Given the description of an element on the screen output the (x, y) to click on. 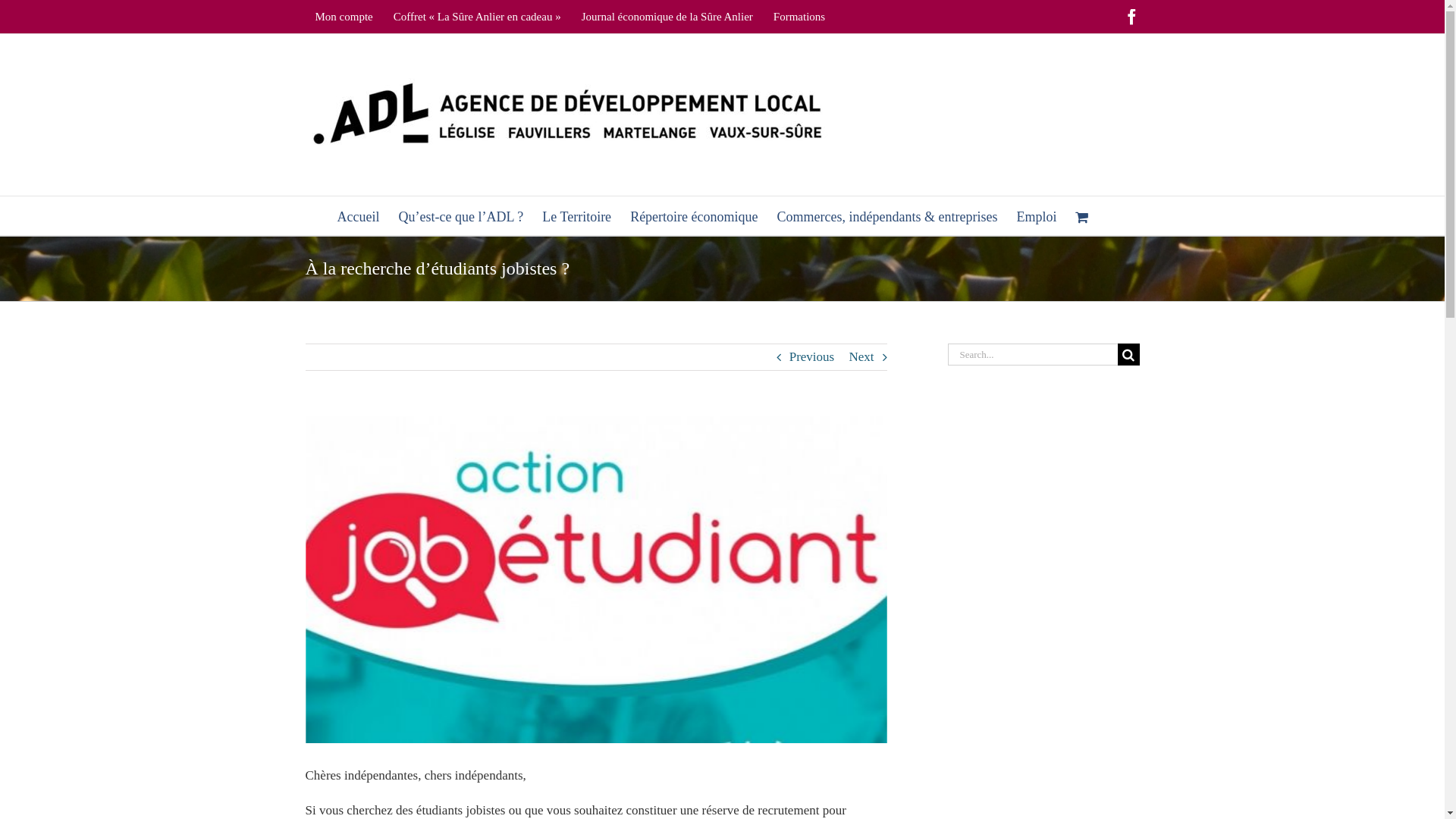
Facebook Element type: text (1131, 17)
Next Element type: text (860, 357)
Previous Element type: text (811, 357)
Mon compte Element type: text (343, 16)
Le Territoire Element type: text (576, 215)
Formations Element type: text (798, 16)
View Larger Image Element type: text (595, 579)
Accueil Element type: text (358, 215)
Emploi Element type: text (1036, 215)
